Given the description of an element on the screen output the (x, y) to click on. 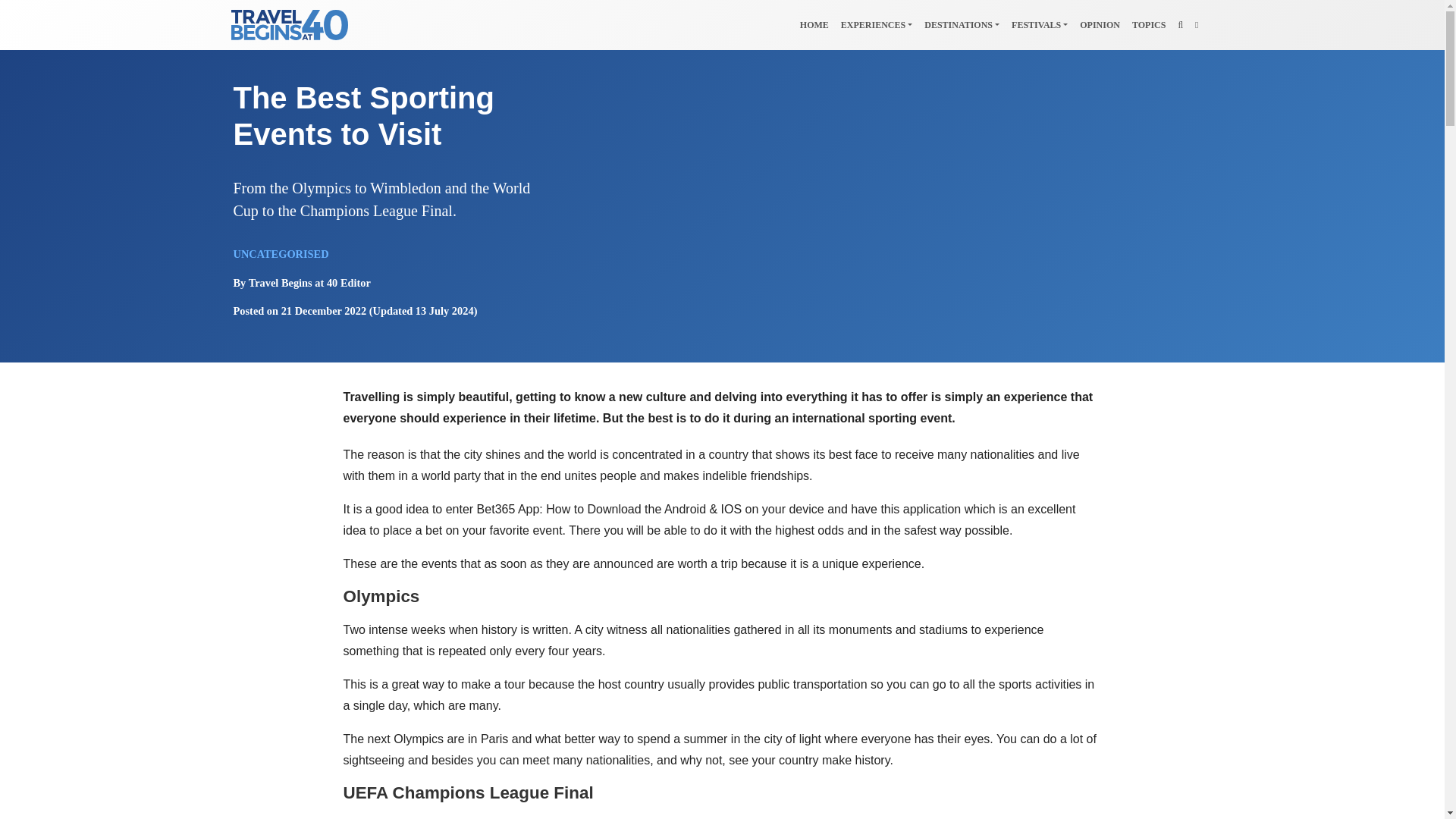
HOME (813, 24)
Travel Begins at 40 Homepage (813, 24)
DESTINATIONS (962, 24)
EXPERIENCES (876, 24)
Travel Destinations (962, 24)
Travel Experiences (876, 24)
FESTIVALS (1040, 24)
